Given the description of an element on the screen output the (x, y) to click on. 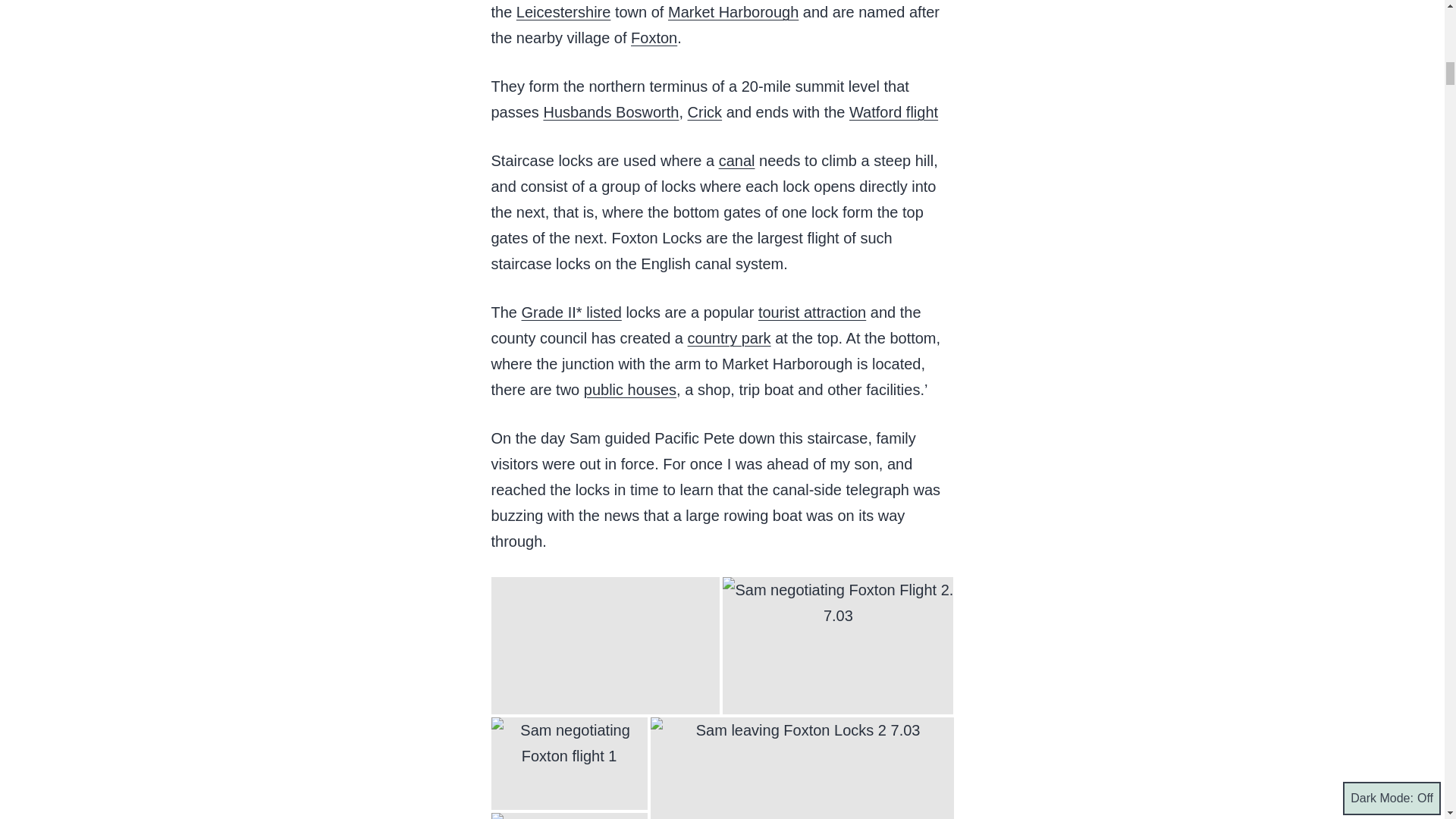
public houses (630, 389)
country park (729, 338)
Market Harborough (732, 12)
Crick (704, 112)
Foxton (653, 37)
Husbands Bosworth (610, 112)
Leicestershire (563, 12)
Watford flight (892, 112)
tourist attraction (812, 312)
canal (737, 160)
